Given the description of an element on the screen output the (x, y) to click on. 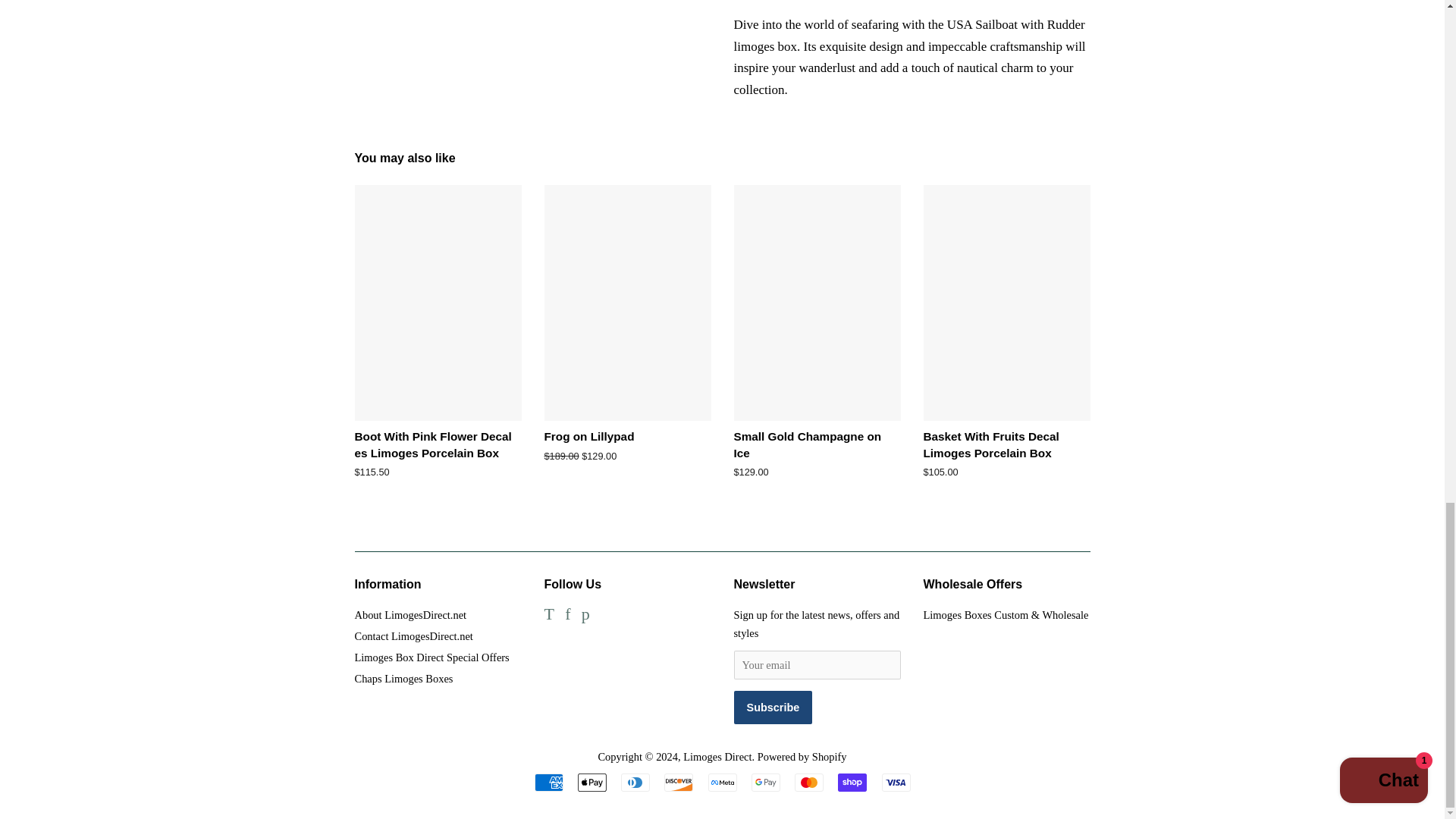
Diners Club (635, 782)
Meta Pay (721, 782)
Shop Pay (852, 782)
Apple Pay (592, 782)
Visa (895, 782)
American Express (548, 782)
Google Pay (765, 782)
Mastercard (809, 782)
Discover (678, 782)
Subscribe (772, 707)
